Given the description of an element on the screen output the (x, y) to click on. 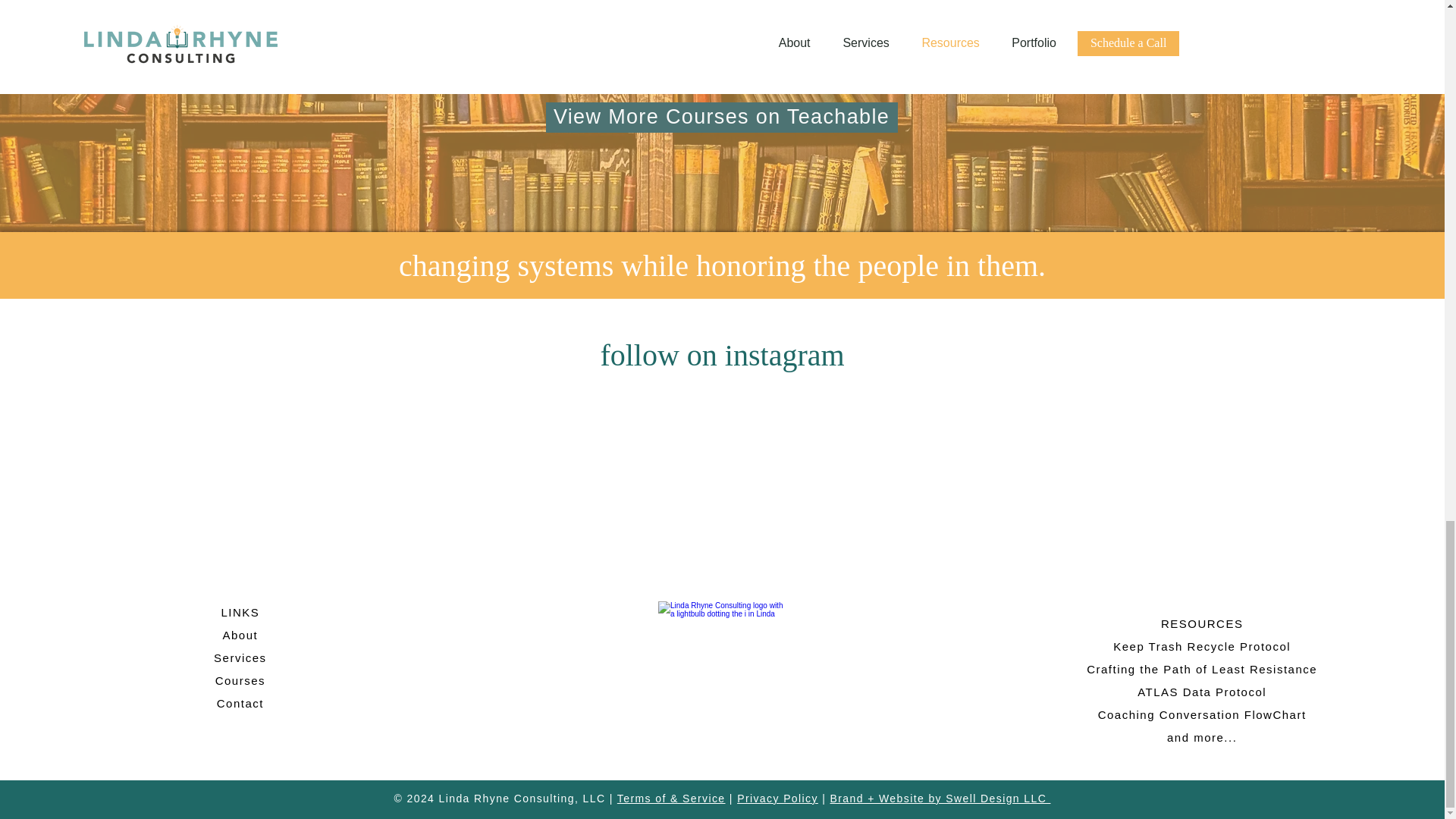
Contact (239, 703)
Courses (239, 680)
About (239, 634)
Keep Trash Recycle Protocol (1201, 645)
Crafting the Path of Least Resistance (1201, 668)
Coaching Conversation FlowChart (1201, 714)
Privacy Policy (777, 798)
Services (240, 657)
View More Courses on Teachable (722, 117)
ATLAS Data Protocol (1201, 691)
